Given the description of an element on the screen output the (x, y) to click on. 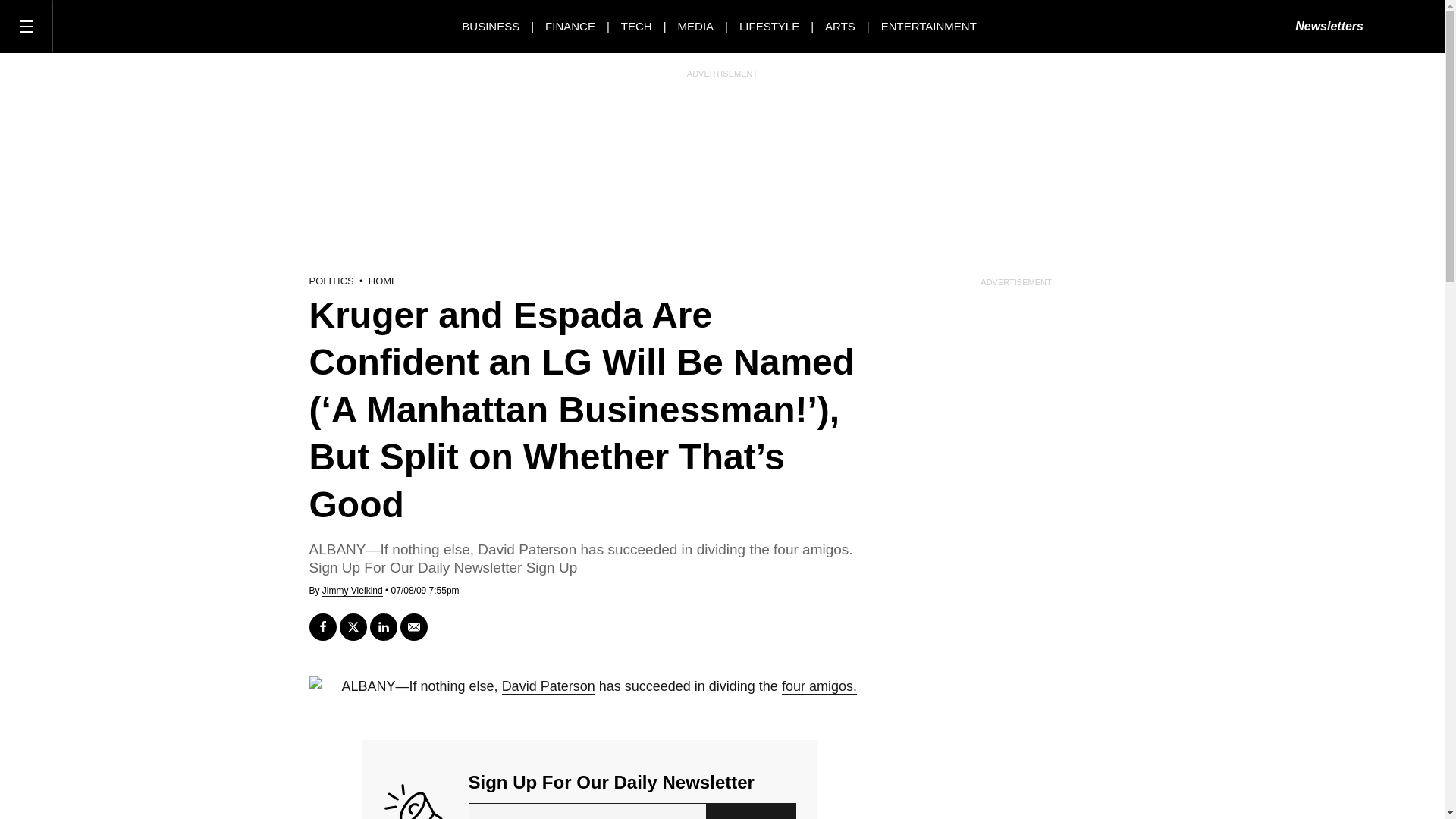
ARTS (840, 25)
BUSINESS (490, 25)
TECH (636, 25)
Share on Facebook (322, 626)
MEDIA (696, 25)
Share on LinkedIn (383, 626)
David Paterson (548, 686)
LIFESTYLE (769, 25)
View All Posts by Jimmy Vielkind (351, 591)
Observer (121, 26)
